Given the description of an element on the screen output the (x, y) to click on. 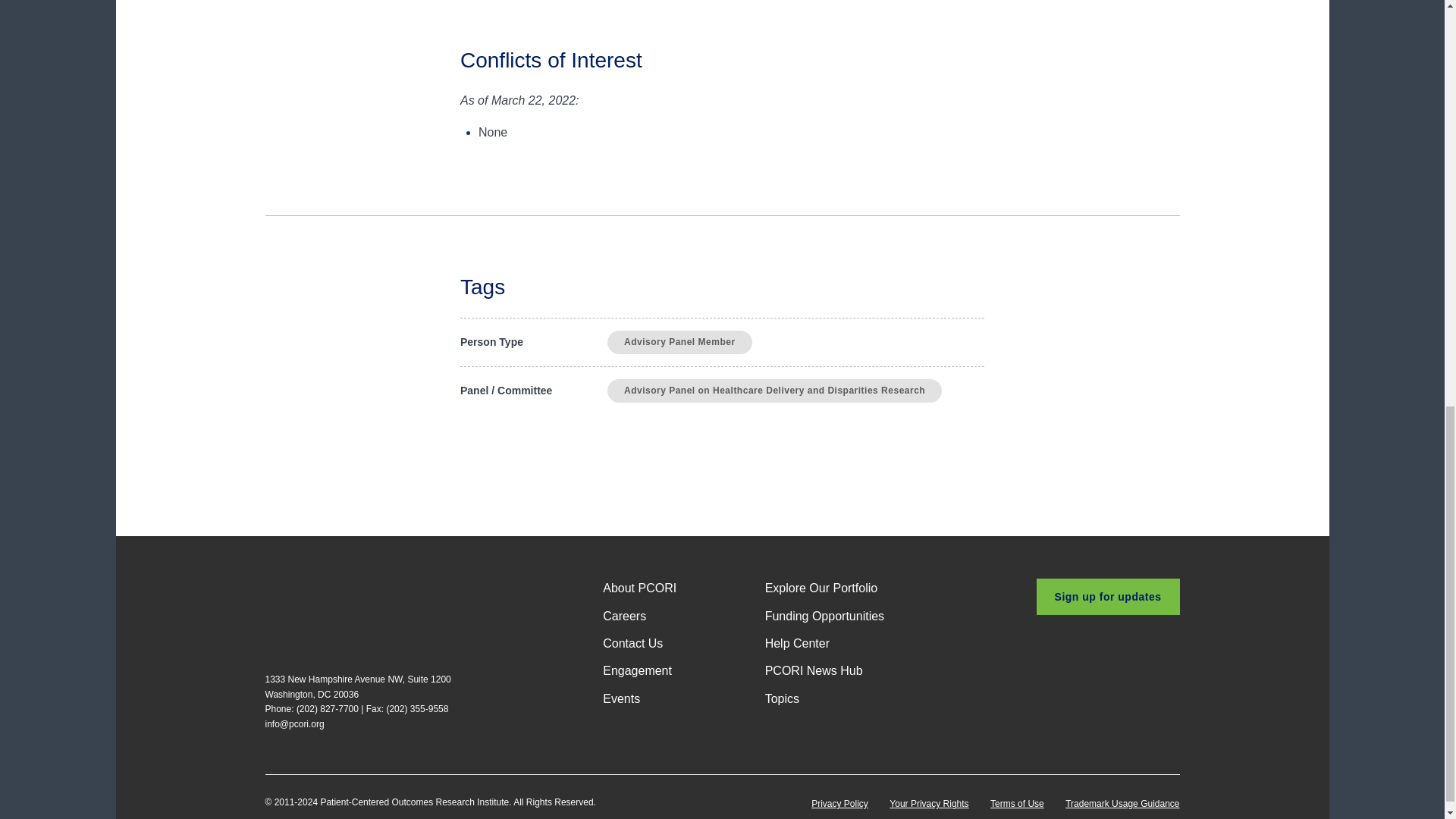
Explore Our Portfolio (821, 588)
Funding Opportunities (824, 616)
Terms of Use (1016, 803)
Trademark Usage Guidance (1122, 803)
Topics (782, 699)
Linked In (1140, 660)
Engagement (636, 670)
Privacy Policy (838, 803)
Sign up for updates (1107, 596)
Twitter (1079, 660)
